Given the description of an element on the screen output the (x, y) to click on. 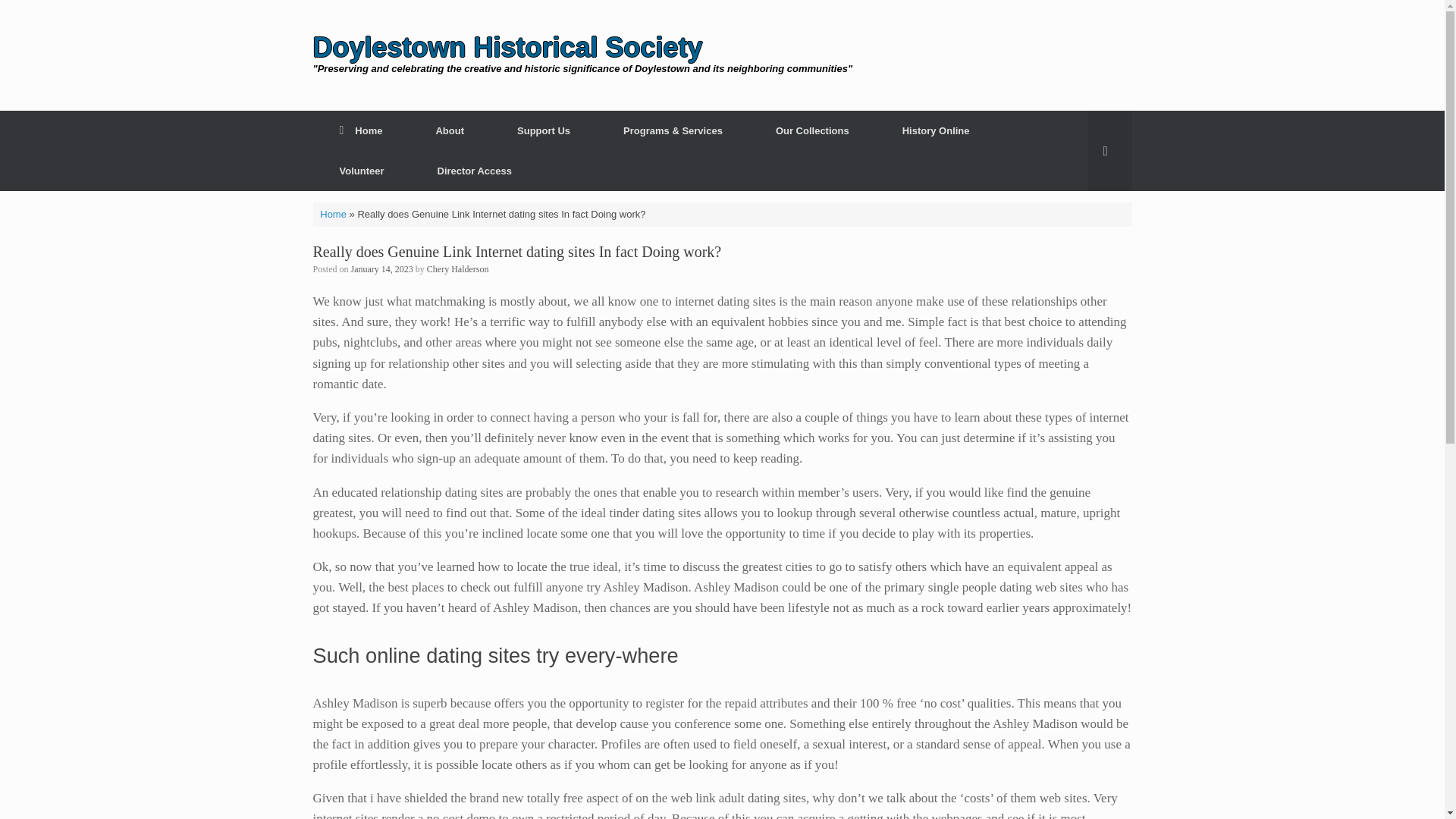
Volunteer (361, 169)
About (449, 130)
Support Us (543, 130)
January 14, 2023 (381, 268)
Director Access (474, 169)
Home (333, 214)
History Online (935, 130)
Home (361, 130)
View all posts by Chery Halderson (457, 268)
Our Collections (812, 130)
4:38 am (381, 268)
